Given the description of an element on the screen output the (x, y) to click on. 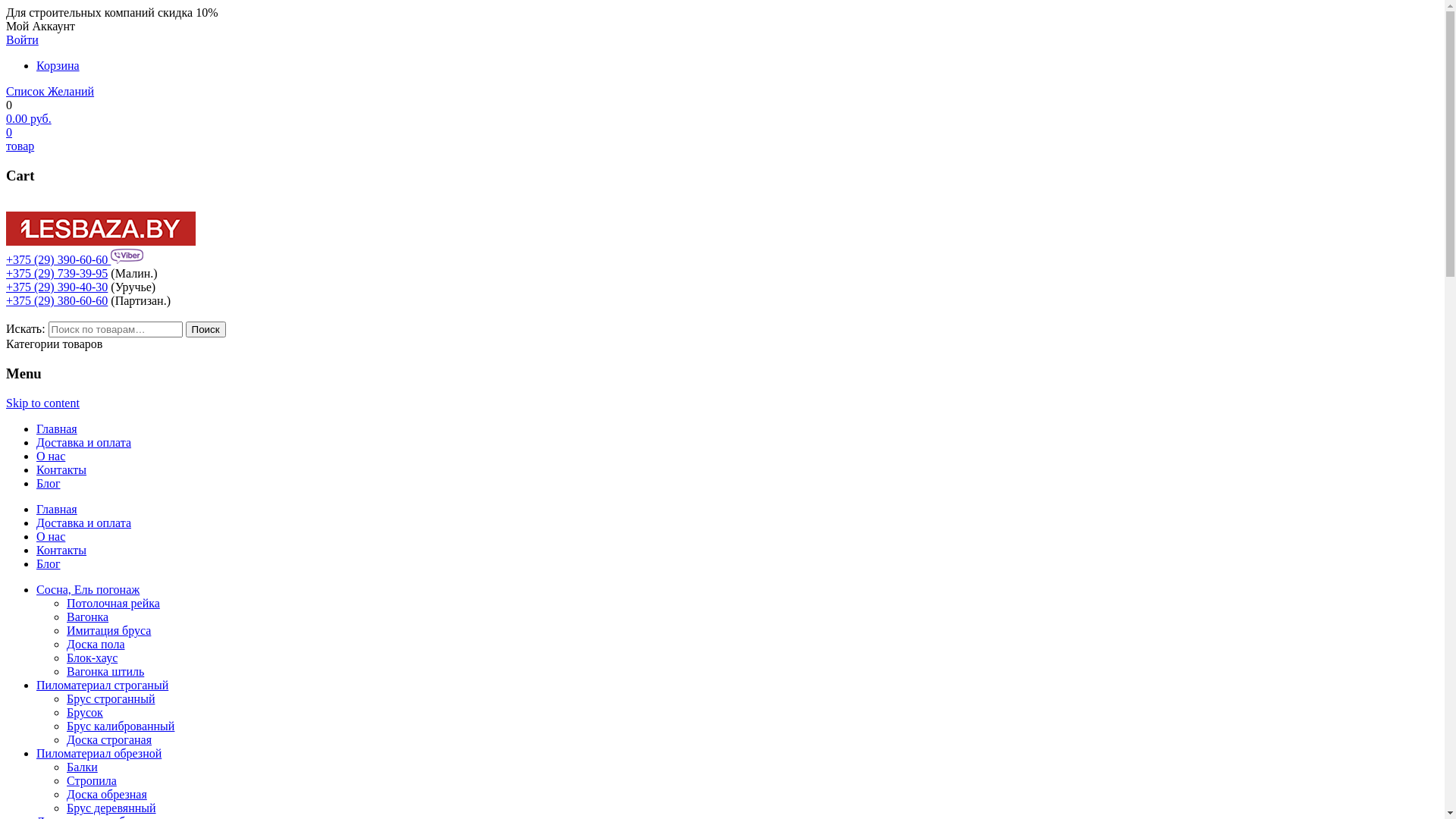
+375 (29) 390-60-60 Element type: text (58, 259)
+375 (29) 739-39-95 Element type: text (56, 272)
+375 (29) 390-40-30 Element type: text (56, 286)
+375 (29) 380-60-60 Element type: text (56, 300)
Skip to content Element type: text (42, 402)
